Given the description of an element on the screen output the (x, y) to click on. 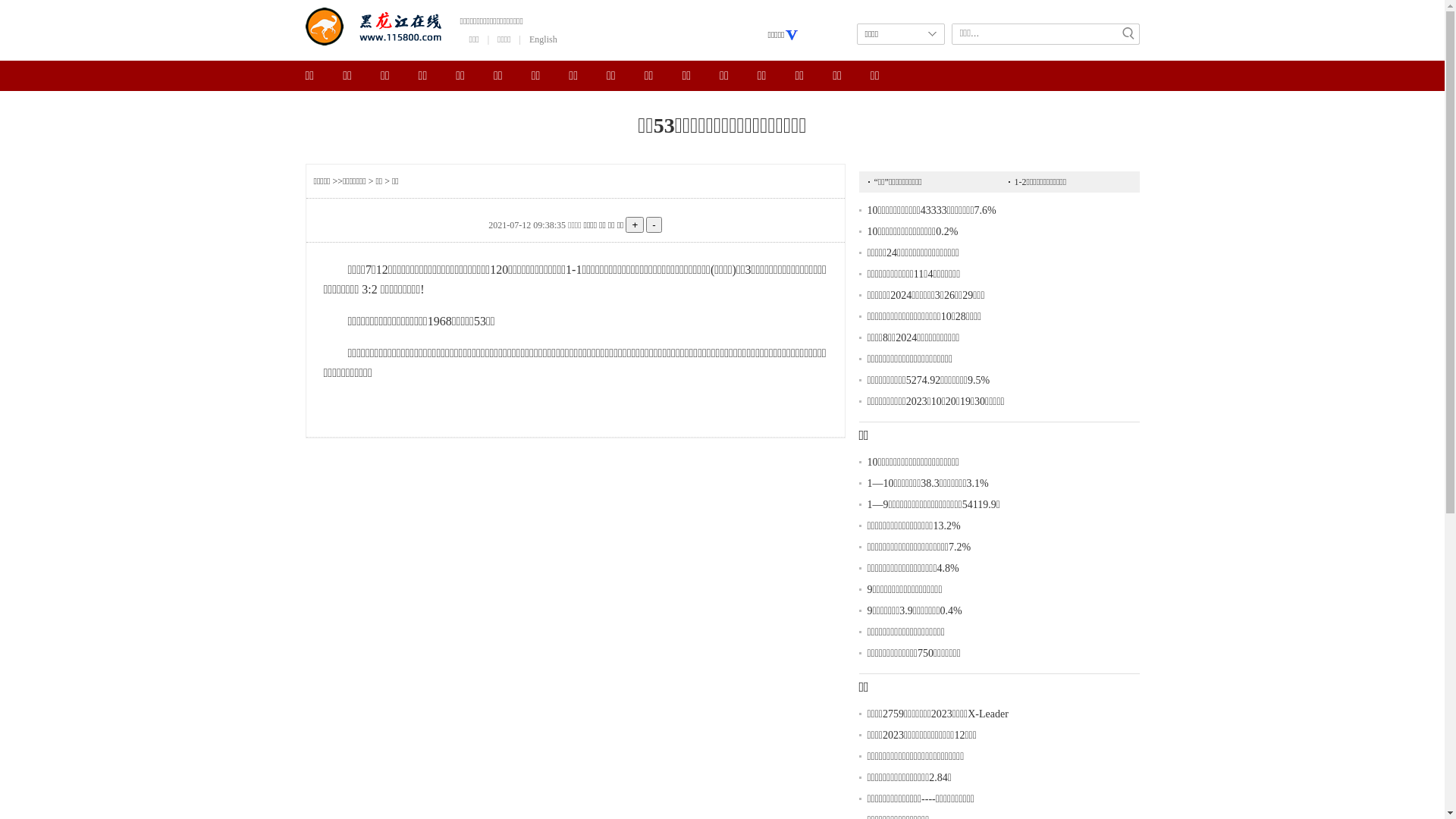
English Element type: text (543, 39)
